Given the description of an element on the screen output the (x, y) to click on. 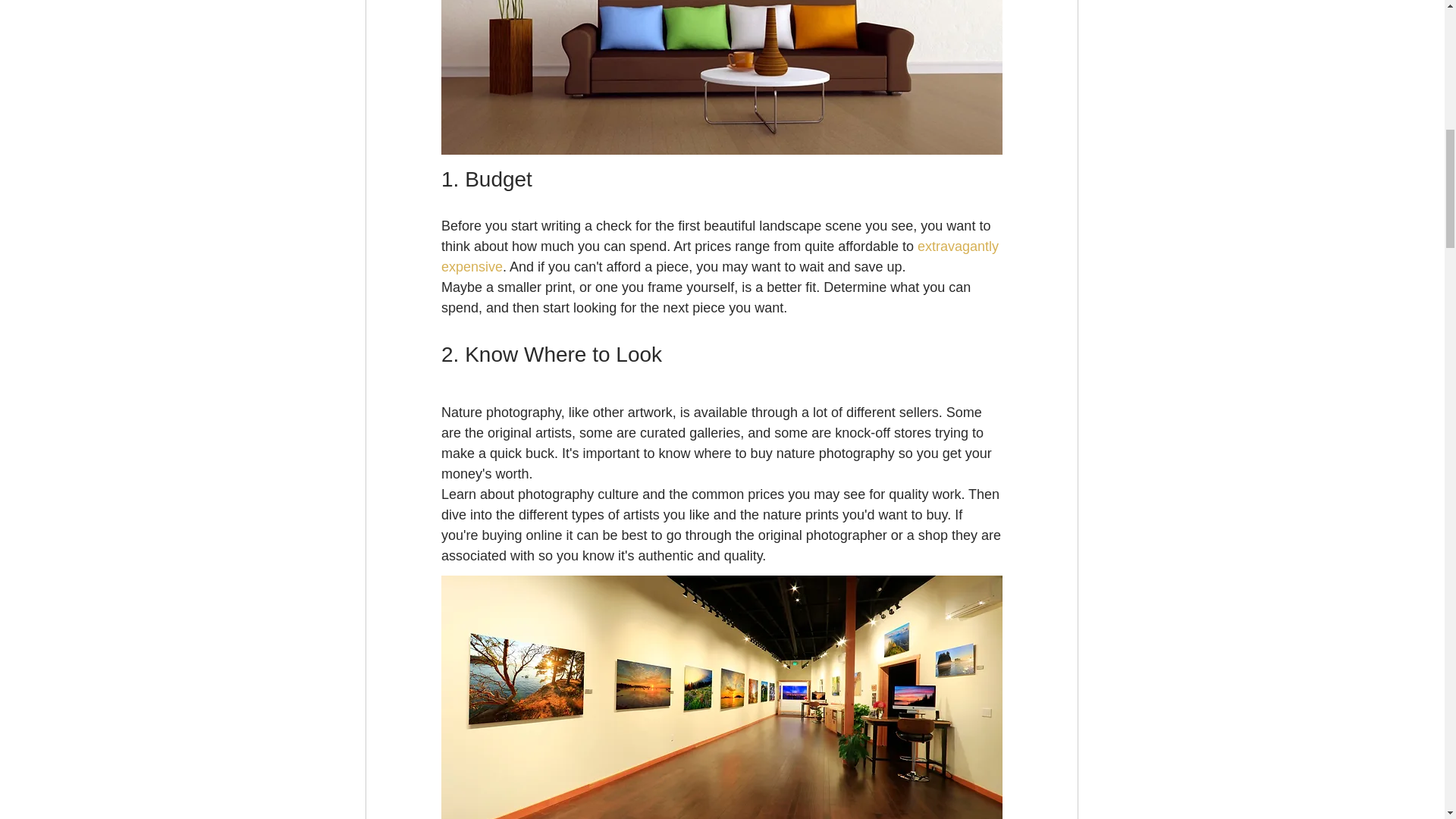
extravagantly expensive (722, 256)
